Given the description of an element on the screen output the (x, y) to click on. 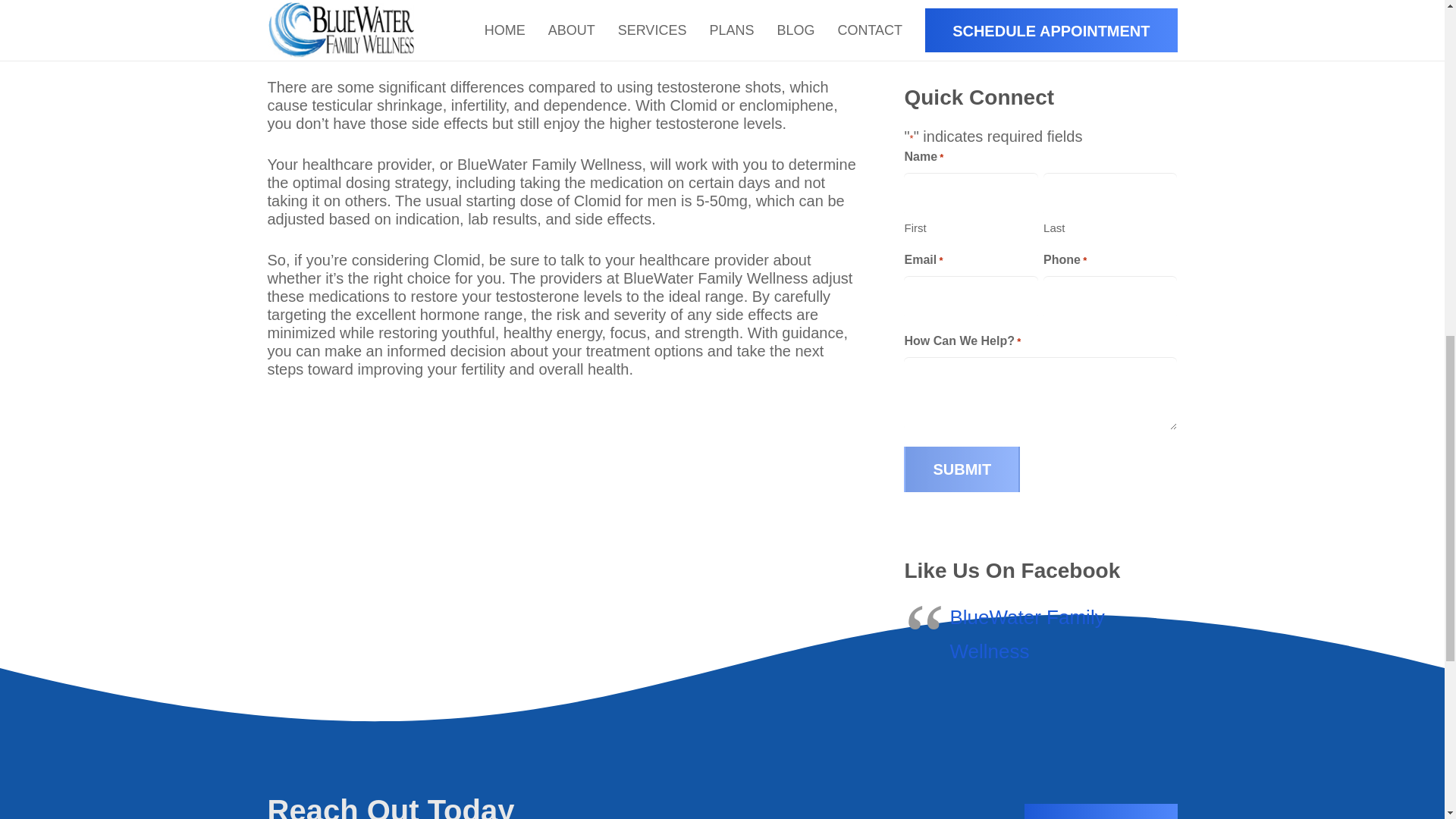
Submit (962, 469)
CONTACT US (1101, 811)
Submit (962, 469)
BlueWater Family Wellness (1026, 633)
